Given the description of an element on the screen output the (x, y) to click on. 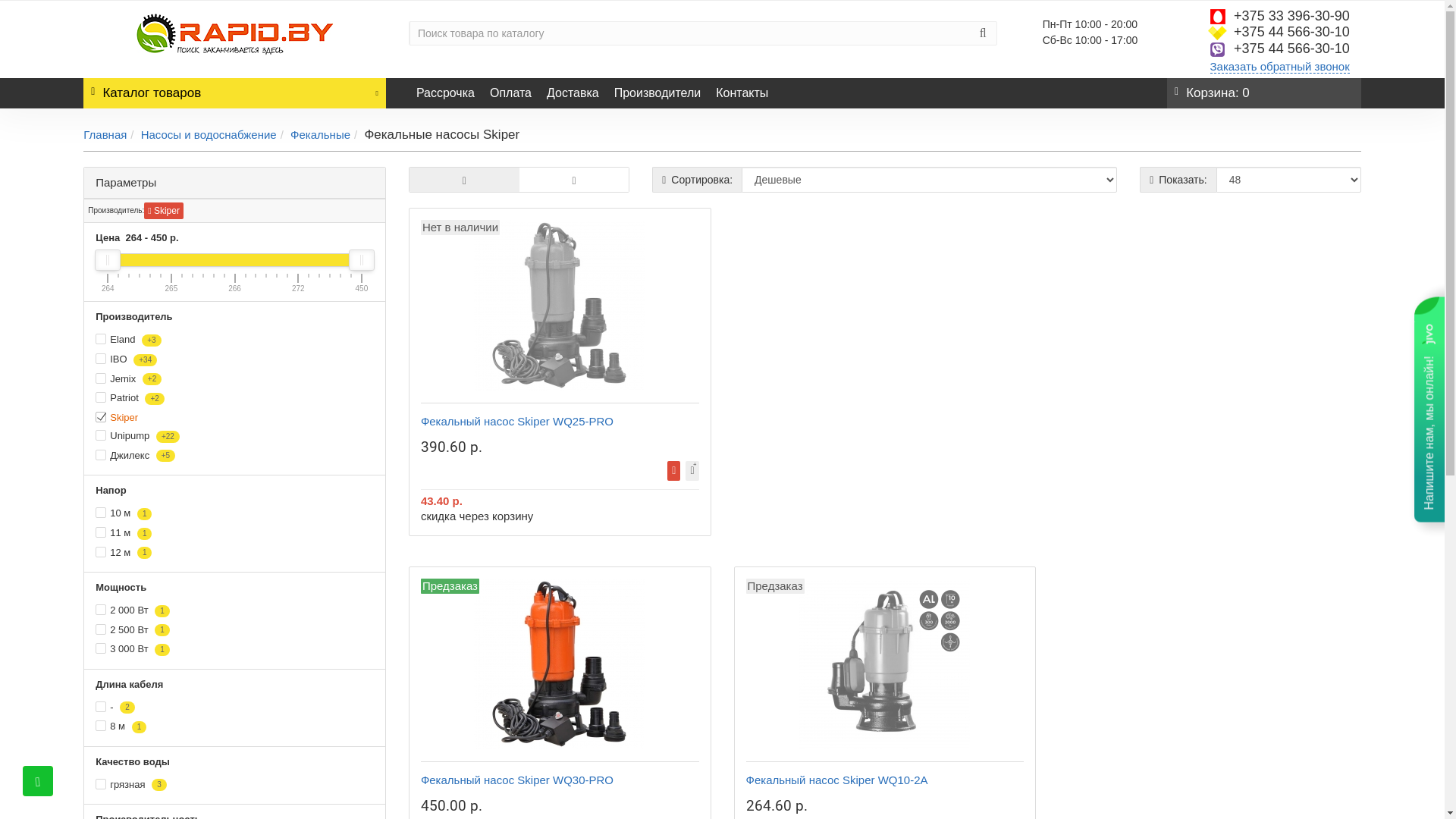
+375 33 396-30-90 Element type: text (1291, 15)
Skiper Element type: text (163, 210)
+375 44 566-30-10 Element type: text (1291, 48)
Rapid.by Element type: hover (234, 34)
+375 44 566-30-10 Element type: text (1291, 31)
